Given the description of an element on the screen output the (x, y) to click on. 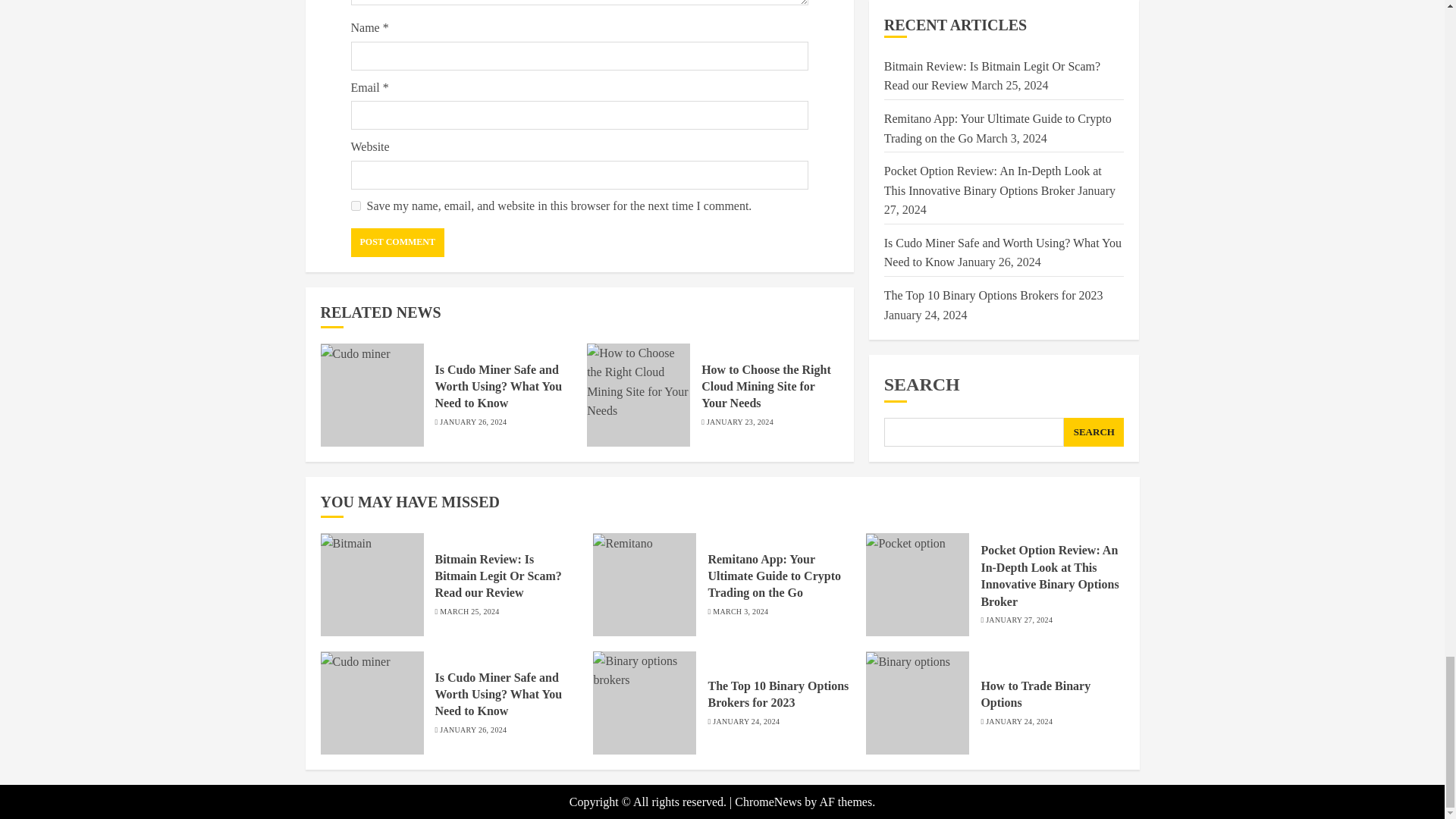
Post Comment (397, 242)
yes (354, 205)
